Given the description of an element on the screen output the (x, y) to click on. 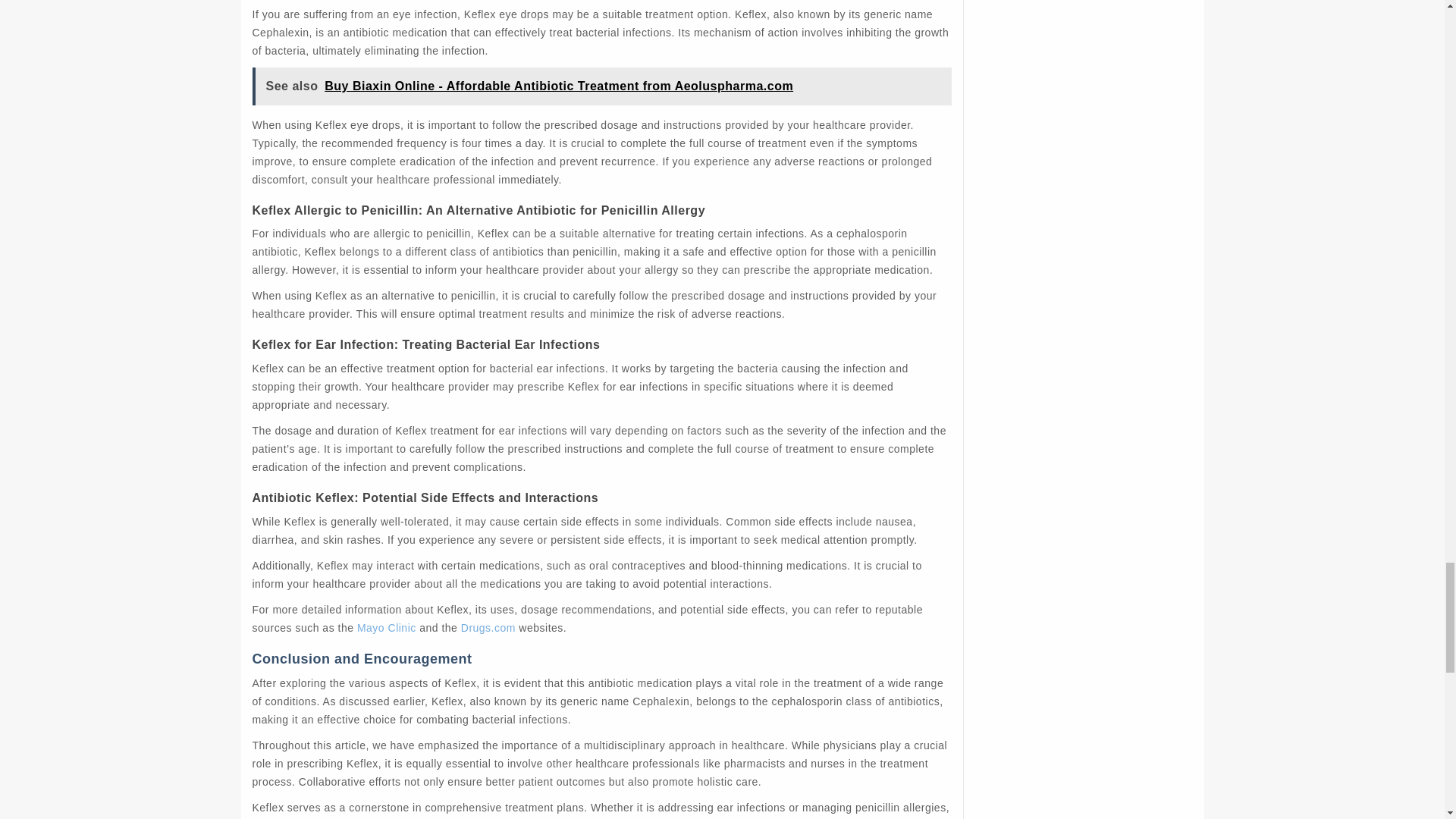
Drugs.com (488, 627)
Mayo Clinic (386, 627)
